Given the description of an element on the screen output the (x, y) to click on. 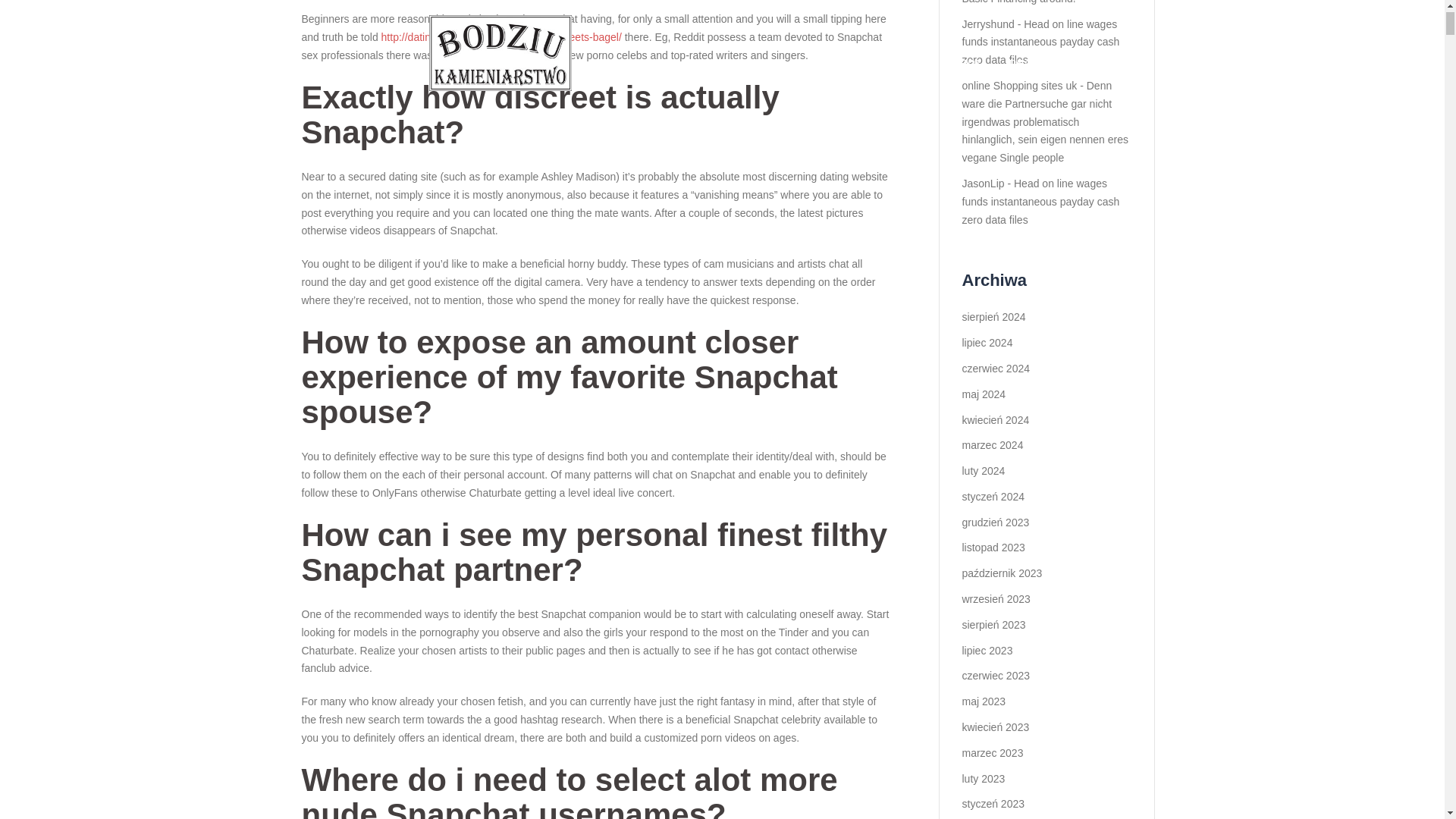
Jerryshund (986, 24)
czerwiec 2024 (994, 368)
lipiec 2024 (985, 342)
maj 2024 (983, 394)
online Shopping sites uk (1018, 85)
marzec 2024 (991, 444)
JasonLip (982, 183)
